Given the description of an element on the screen output the (x, y) to click on. 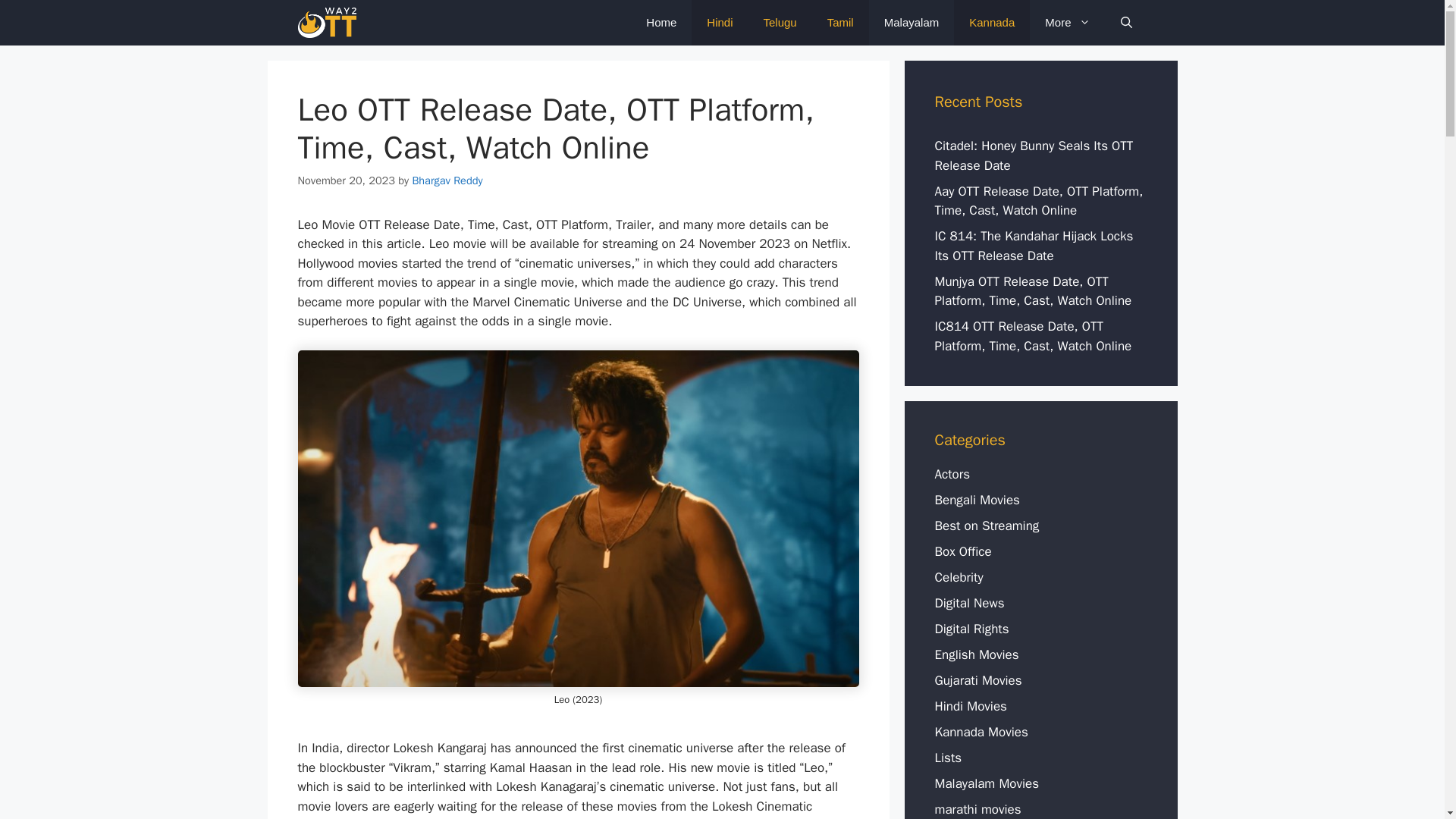
Malayalam (912, 22)
Way2OTT (326, 22)
Tamil (840, 22)
Home (660, 22)
Kannada (991, 22)
Hindi (719, 22)
More (1067, 22)
Bhargav Reddy (446, 180)
View all posts by Bhargav Reddy (446, 180)
Telugu (779, 22)
